Given the description of an element on the screen output the (x, y) to click on. 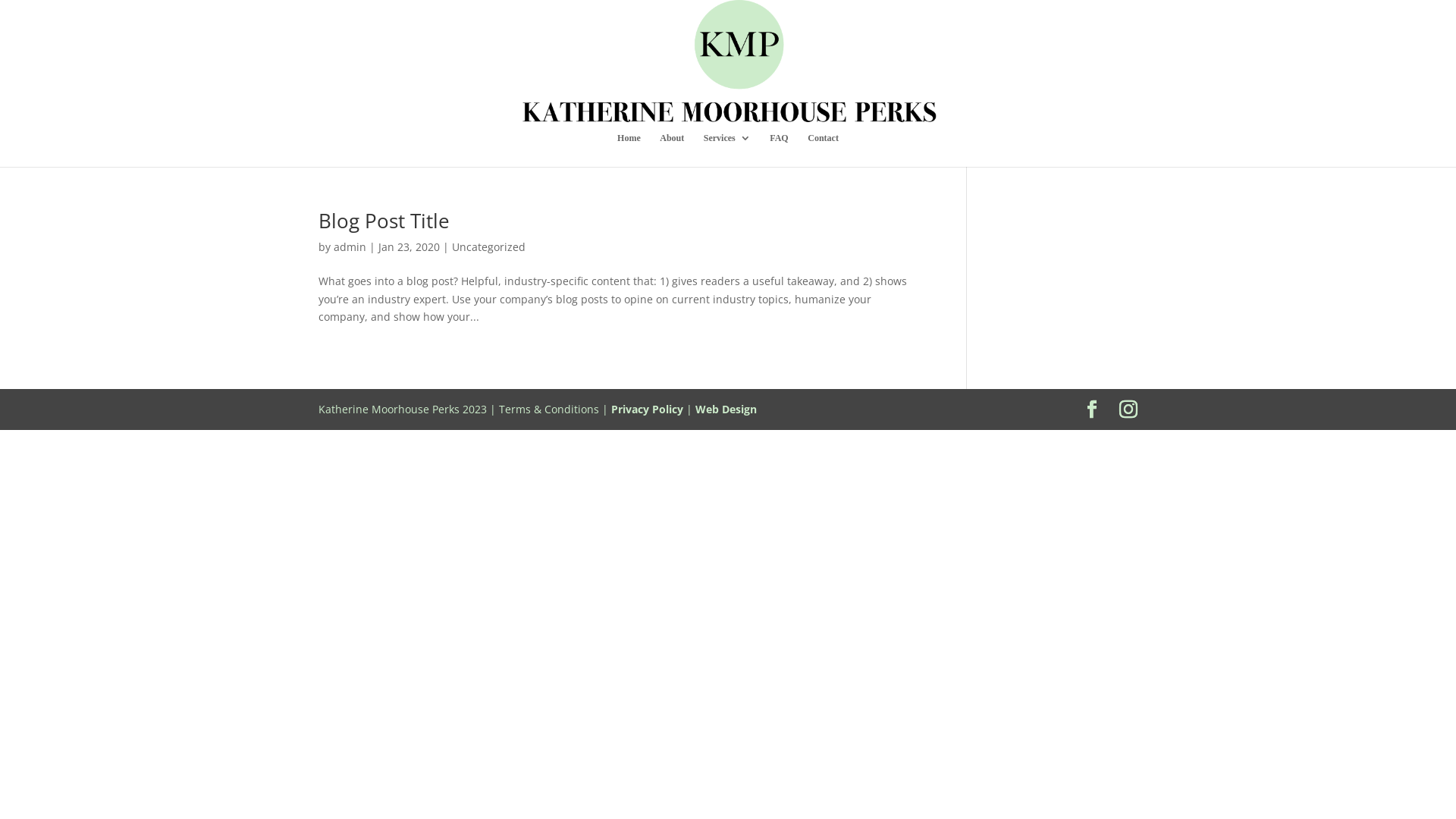
Uncategorized Element type: text (488, 246)
admin Element type: text (349, 246)
Web Design Element type: text (725, 408)
Services Element type: text (726, 149)
FAQ Element type: text (778, 149)
Blog Post Title Element type: text (383, 220)
Privacy Policy Element type: text (647, 408)
Home Element type: text (628, 149)
Contact Element type: text (822, 149)
About Element type: text (671, 149)
